Given the description of an element on the screen output the (x, y) to click on. 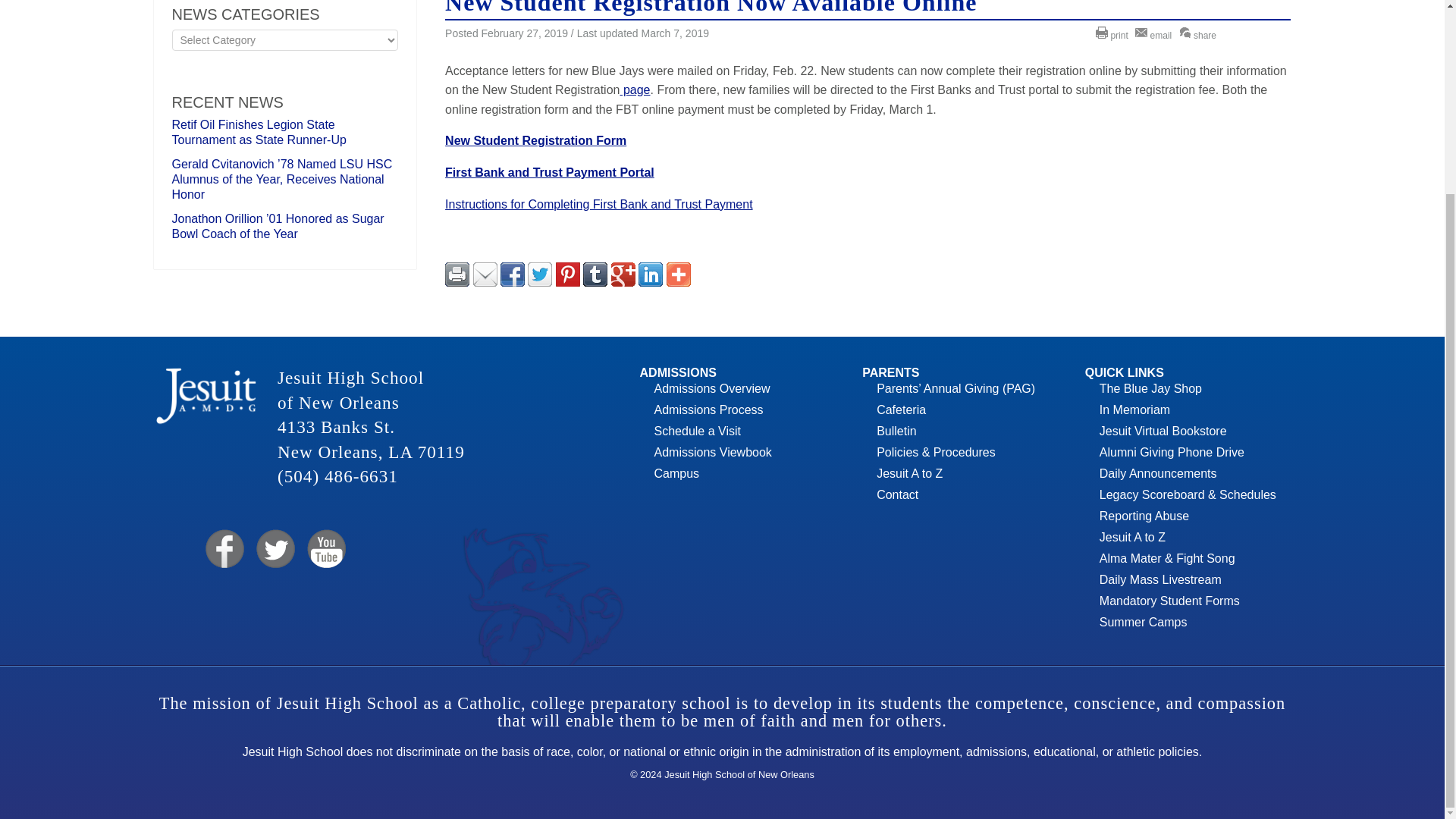
New Student Registration Form (535, 140)
share (1199, 35)
page (634, 89)
email (1154, 35)
Instructions for Completing First Bank and Trust Payment (598, 204)
First Bank and Trust Payment Portal (549, 172)
print (1114, 35)
